Given the description of an element on the screen output the (x, y) to click on. 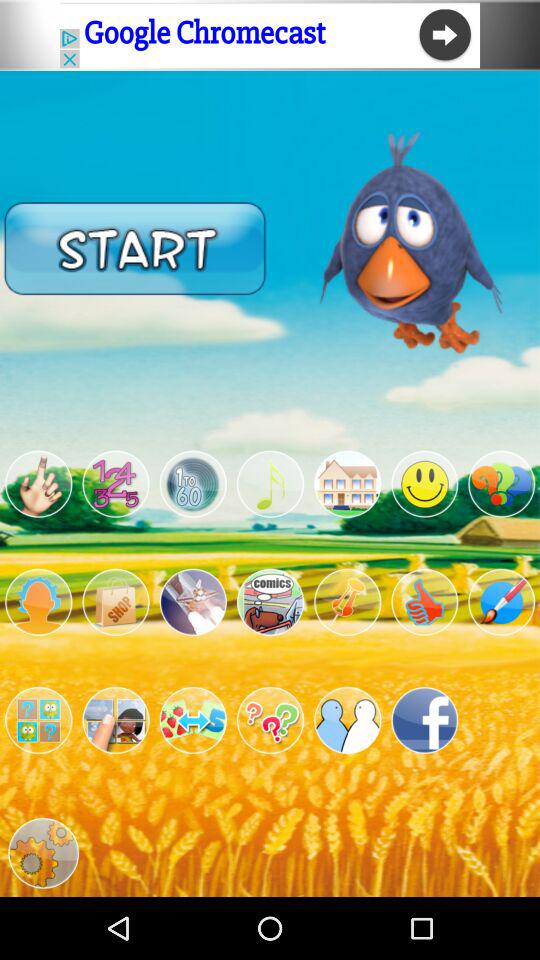
button (192, 484)
